Given the description of an element on the screen output the (x, y) to click on. 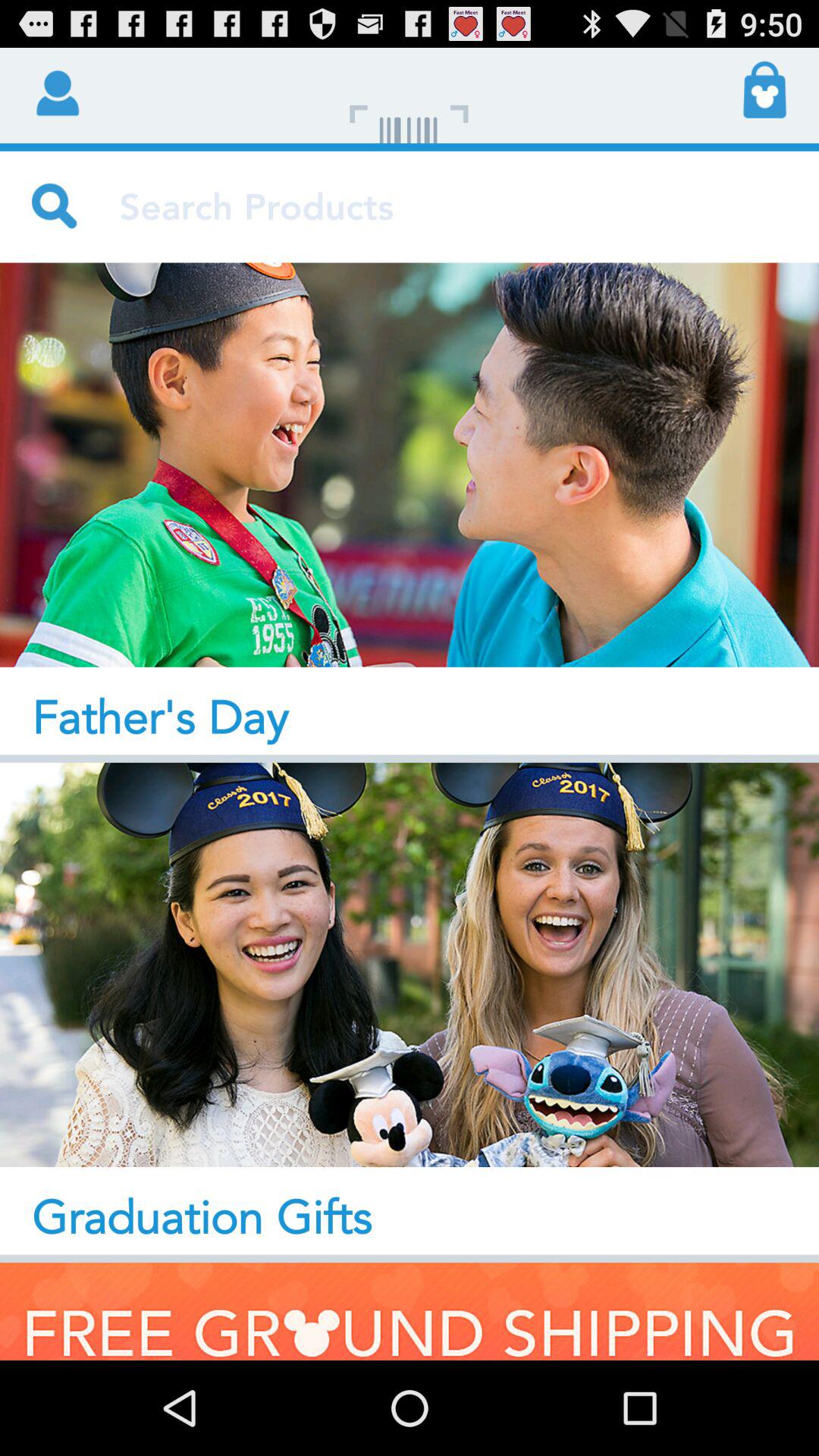
launch icon at the top left corner (55, 91)
